Given the description of an element on the screen output the (x, y) to click on. 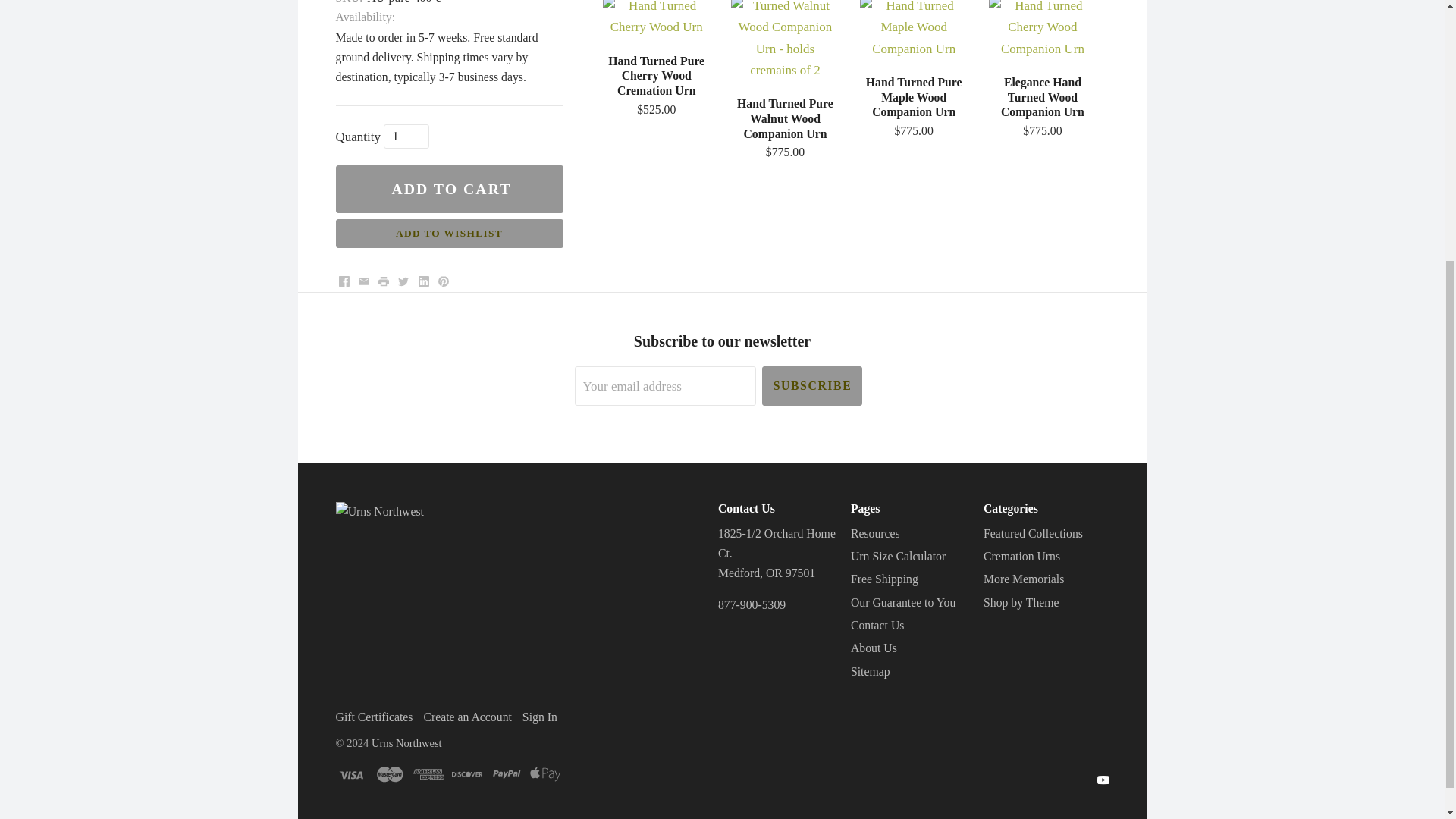
Elegance Hand Turned Wood Companion Urn (1042, 33)
American Express (428, 774)
Paypal (507, 774)
Mastercard (389, 774)
Subscribe (811, 385)
Hand Turned Pure Walnut Wood Companion Urn (784, 129)
Apple Pay (544, 774)
Visa (349, 774)
Hand Turned Pure Maple Wood Companion Urn (913, 107)
Hand Turned Pure Cherry Wood Cremation Urn (656, 86)
